Given the description of an element on the screen output the (x, y) to click on. 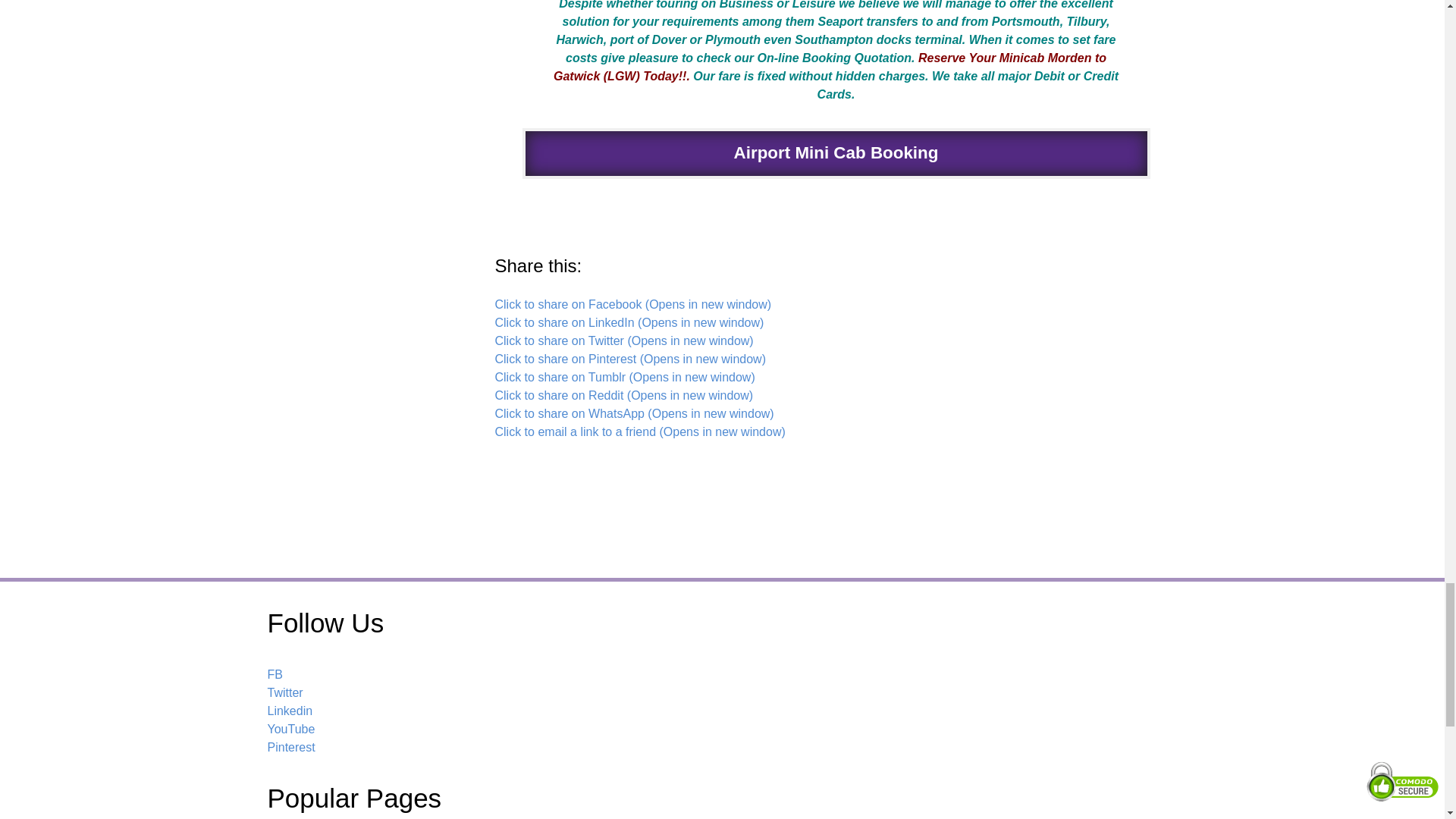
Airport Taxi Booking (835, 153)
Click to share on Tumblr (624, 377)
Click to share on Facebook (633, 304)
Click to share on Pinterest (630, 358)
Click to share on WhatsApp (634, 413)
Facebook profile of Heathrow Gatwick Cars (274, 674)
Click to email a link to a friend (639, 431)
Click to share on Twitter (623, 340)
Click to share on Reddit (623, 395)
Click to share on LinkedIn (628, 322)
Airport Mini Cab Booking (835, 153)
